Given the description of an element on the screen output the (x, y) to click on. 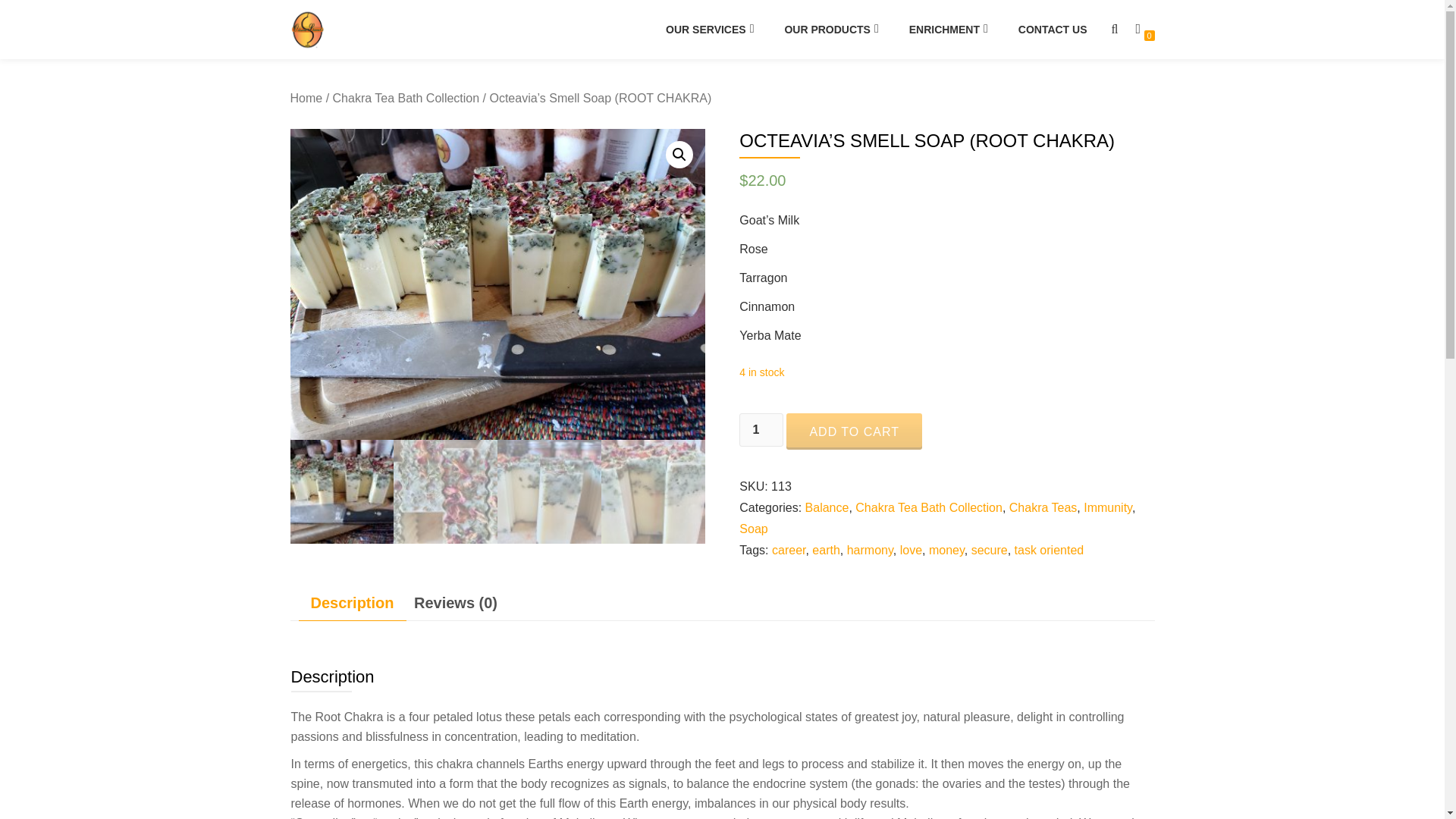
Home (305, 97)
CONTACT US (1052, 29)
Chakra Tea Bath Collection (406, 97)
OUR PRODUCTS (830, 29)
OUR SERVICES (709, 29)
ENRICHMENT (948, 29)
Root 2 (496, 283)
1 (761, 429)
